Given the description of an element on the screen output the (x, y) to click on. 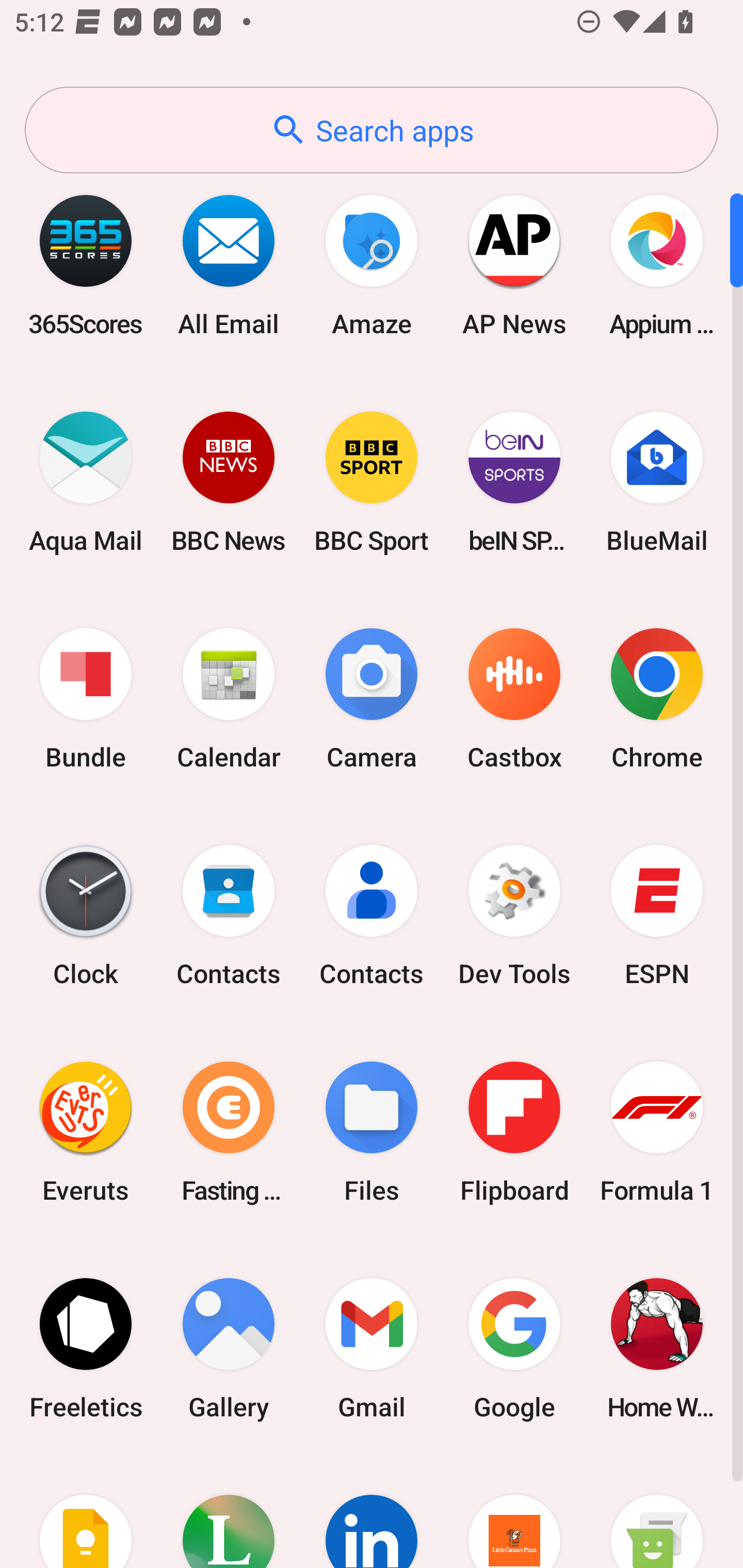
  Search apps (371, 130)
365Scores (85, 264)
All Email (228, 264)
Amaze (371, 264)
AP News (514, 264)
Appium Settings (656, 264)
Aqua Mail (85, 482)
BBC News (228, 482)
BBC Sport (371, 482)
beIN SPORTS (514, 482)
BlueMail (656, 482)
Bundle (85, 699)
Calendar (228, 699)
Camera (371, 699)
Castbox (514, 699)
Chrome (656, 699)
Clock (85, 915)
Contacts (228, 915)
Contacts (371, 915)
Dev Tools (514, 915)
ESPN (656, 915)
Everuts (85, 1131)
Fasting Coach (228, 1131)
Files (371, 1131)
Flipboard (514, 1131)
Formula 1 (656, 1131)
Freeletics (85, 1348)
Gallery (228, 1348)
Gmail (371, 1348)
Google (514, 1348)
Home Workout (656, 1348)
Keep Notes (85, 1512)
Lifesum (228, 1512)
LinkedIn (371, 1512)
Little Caesars Pizza (514, 1512)
Messaging (656, 1512)
